Given the description of an element on the screen output the (x, y) to click on. 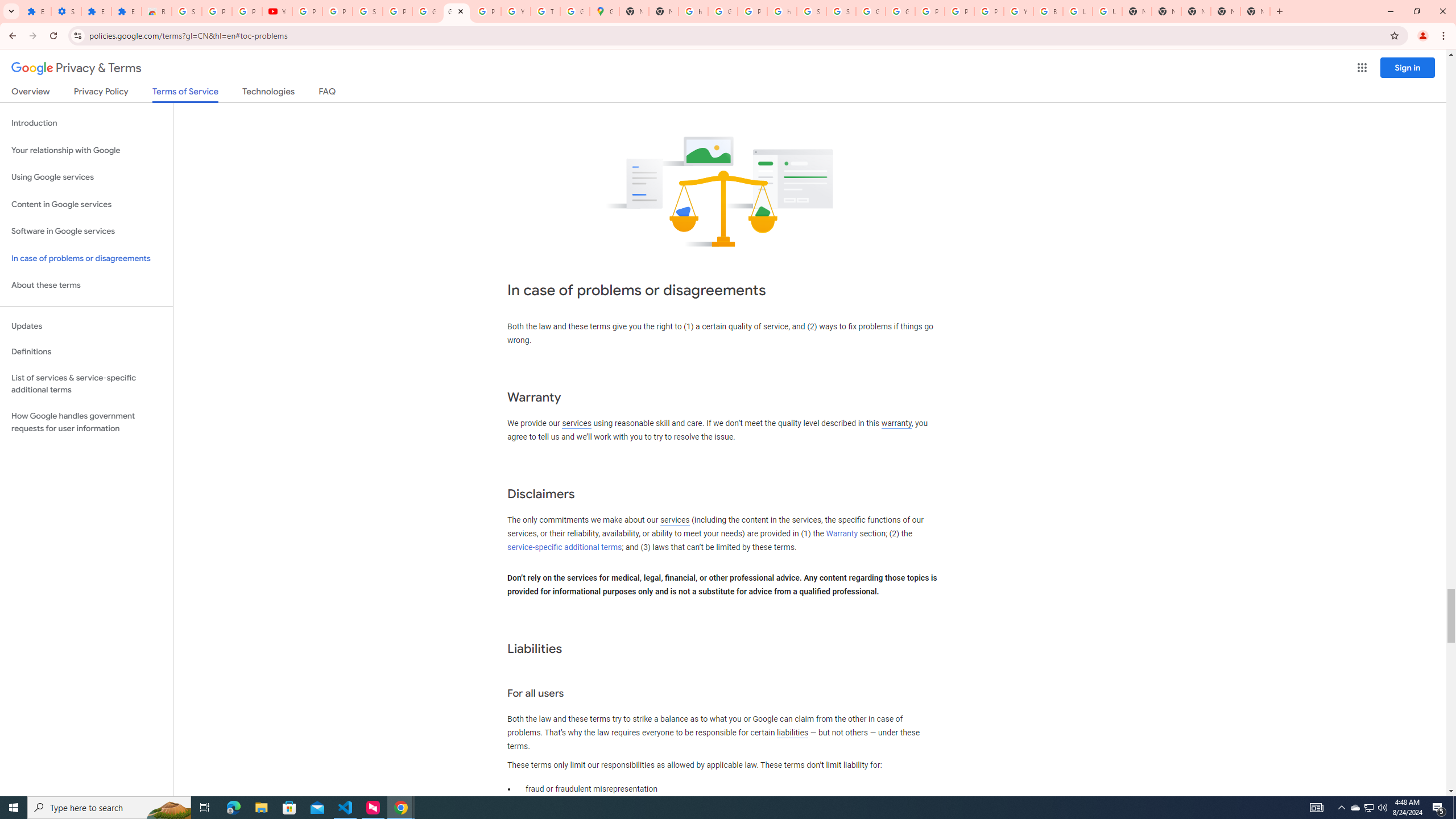
List of services & service-specific additional terms (86, 383)
Google Account (426, 11)
Introduction (86, 122)
Browse Chrome as a guest - Computer - Google Chrome Help (1047, 11)
FAQ (327, 93)
Sign in - Google Accounts (367, 11)
Sign in - Google Accounts (185, 11)
In case of problems or disagreements (86, 258)
